Given the description of an element on the screen output the (x, y) to click on. 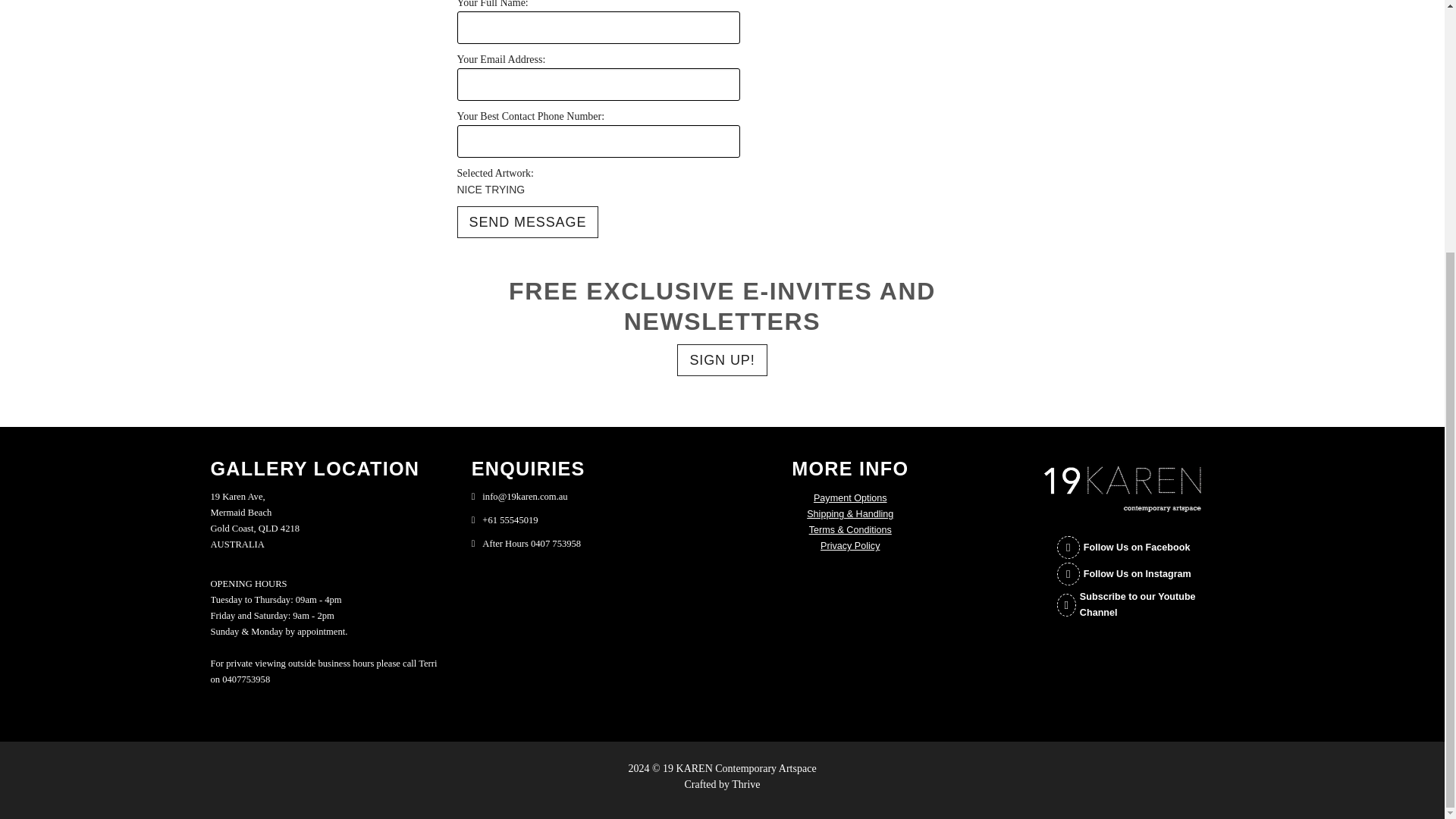
SEND MESSAGE (527, 222)
SEND MESSAGE (527, 222)
NICE TRYING (523, 189)
Web Design Gold Coast (746, 784)
